Given the description of an element on the screen output the (x, y) to click on. 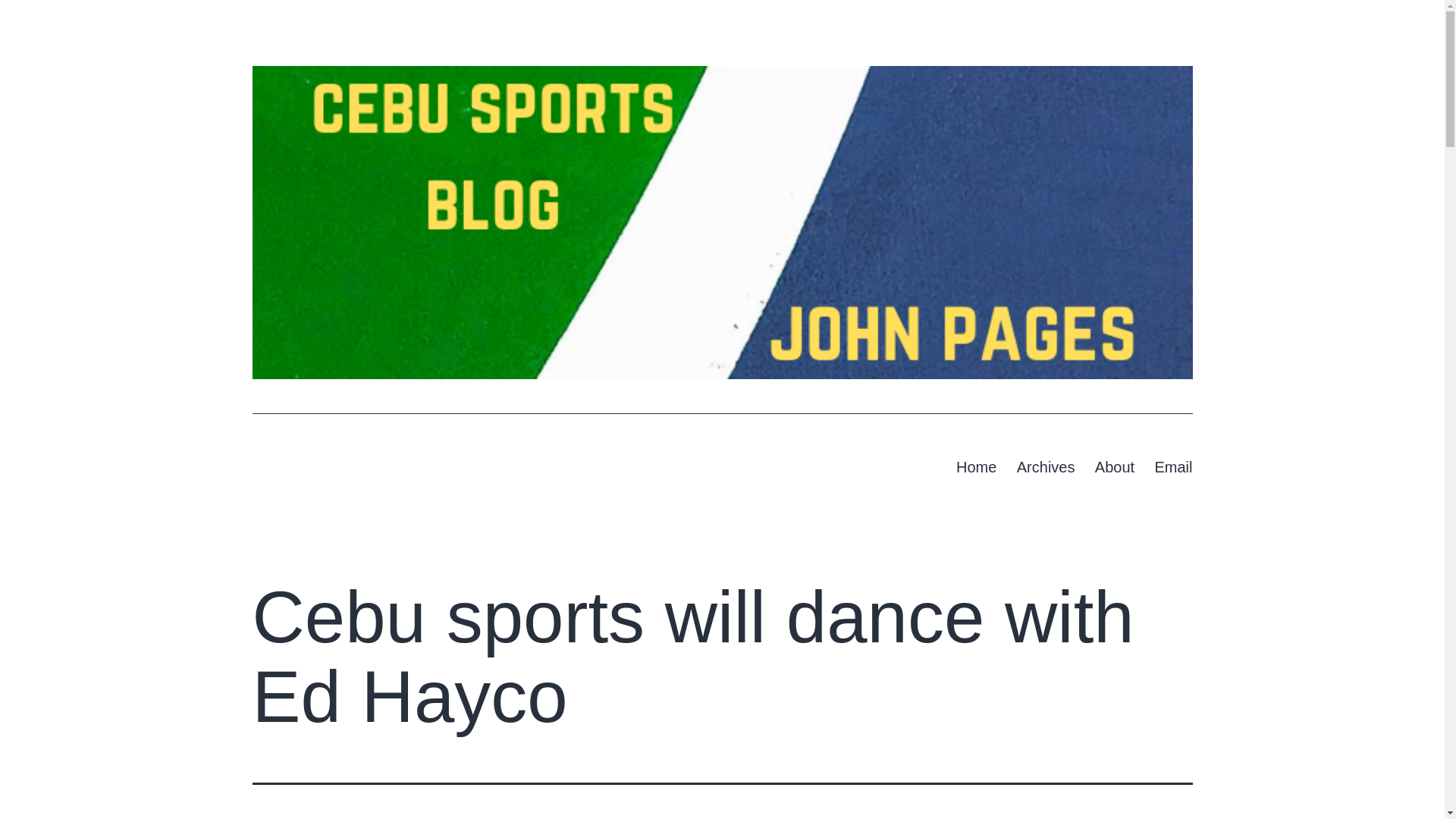
Home (976, 466)
Archives (1045, 466)
About (1114, 466)
Email (1173, 466)
